Given the description of an element on the screen output the (x, y) to click on. 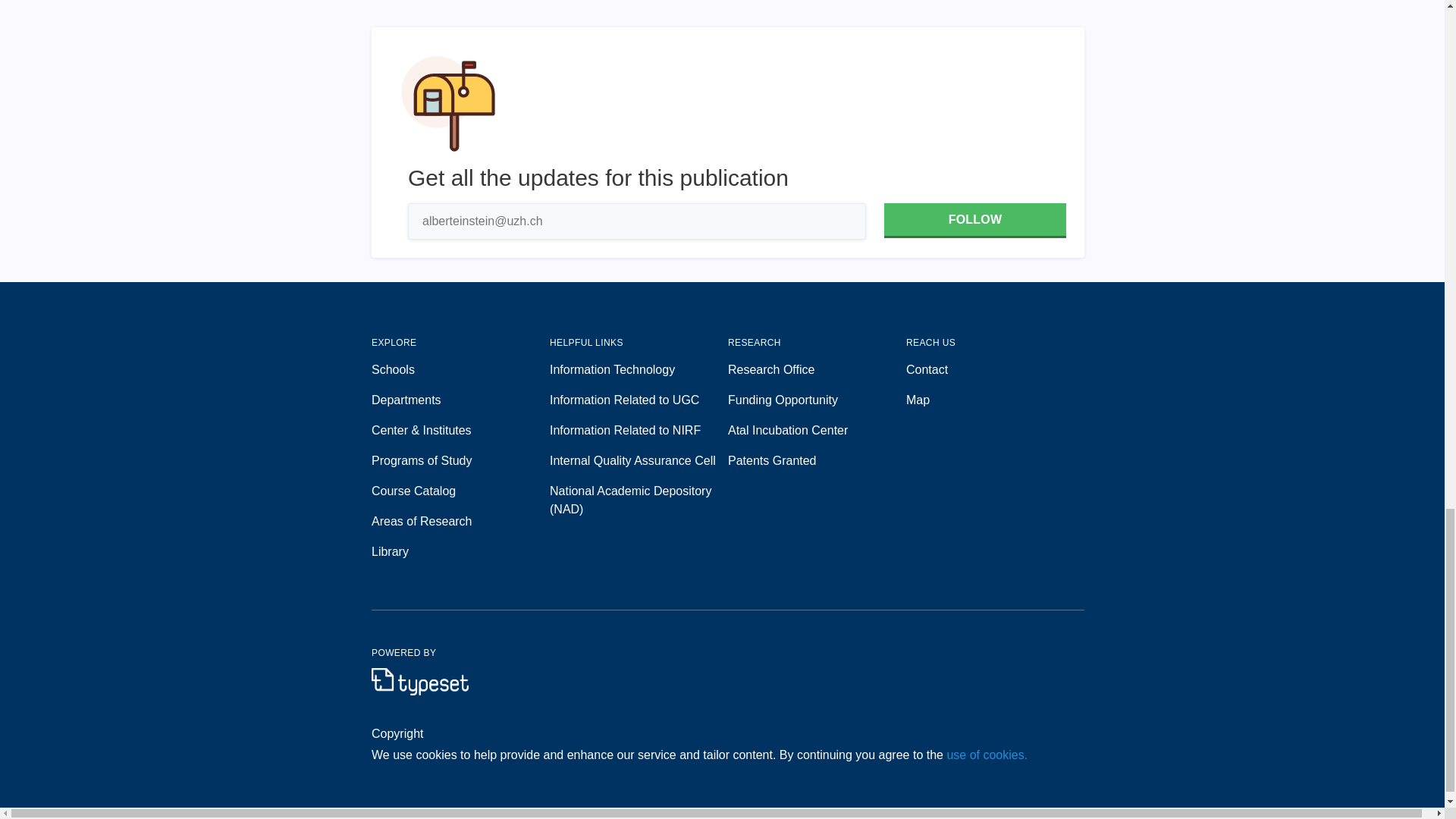
Information Related to UGC (639, 400)
Subscribe form hero illustration (448, 103)
Schools (460, 370)
Departments (460, 400)
Logo of Typeset (419, 681)
FOLLOW (974, 220)
Information Technology (639, 370)
Areas of Research (460, 521)
Course Catalog (460, 491)
Information Related to NIRF (639, 430)
